Given the description of an element on the screen output the (x, y) to click on. 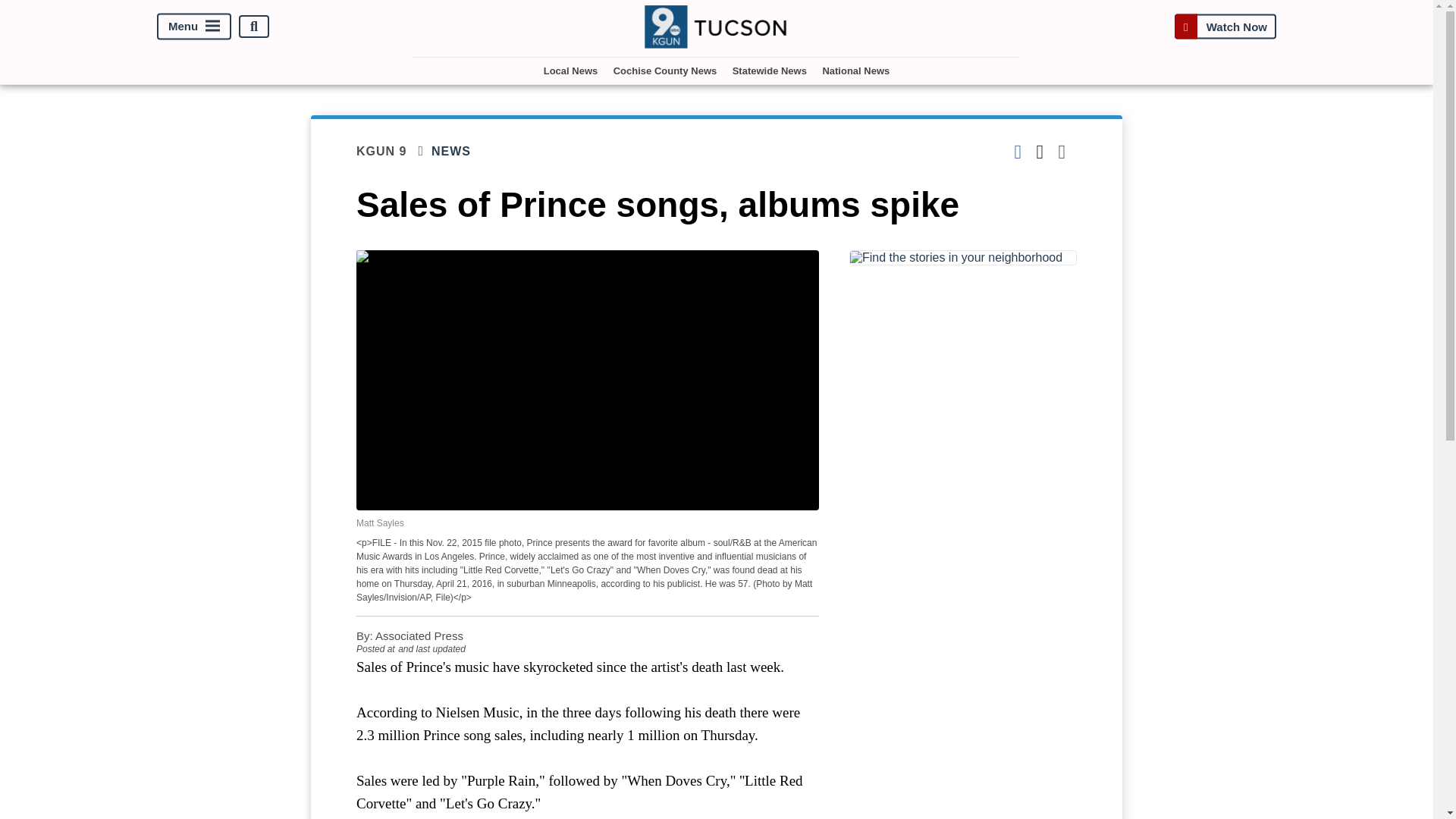
Menu (194, 26)
Watch Now (1224, 26)
